Given the description of an element on the screen output the (x, y) to click on. 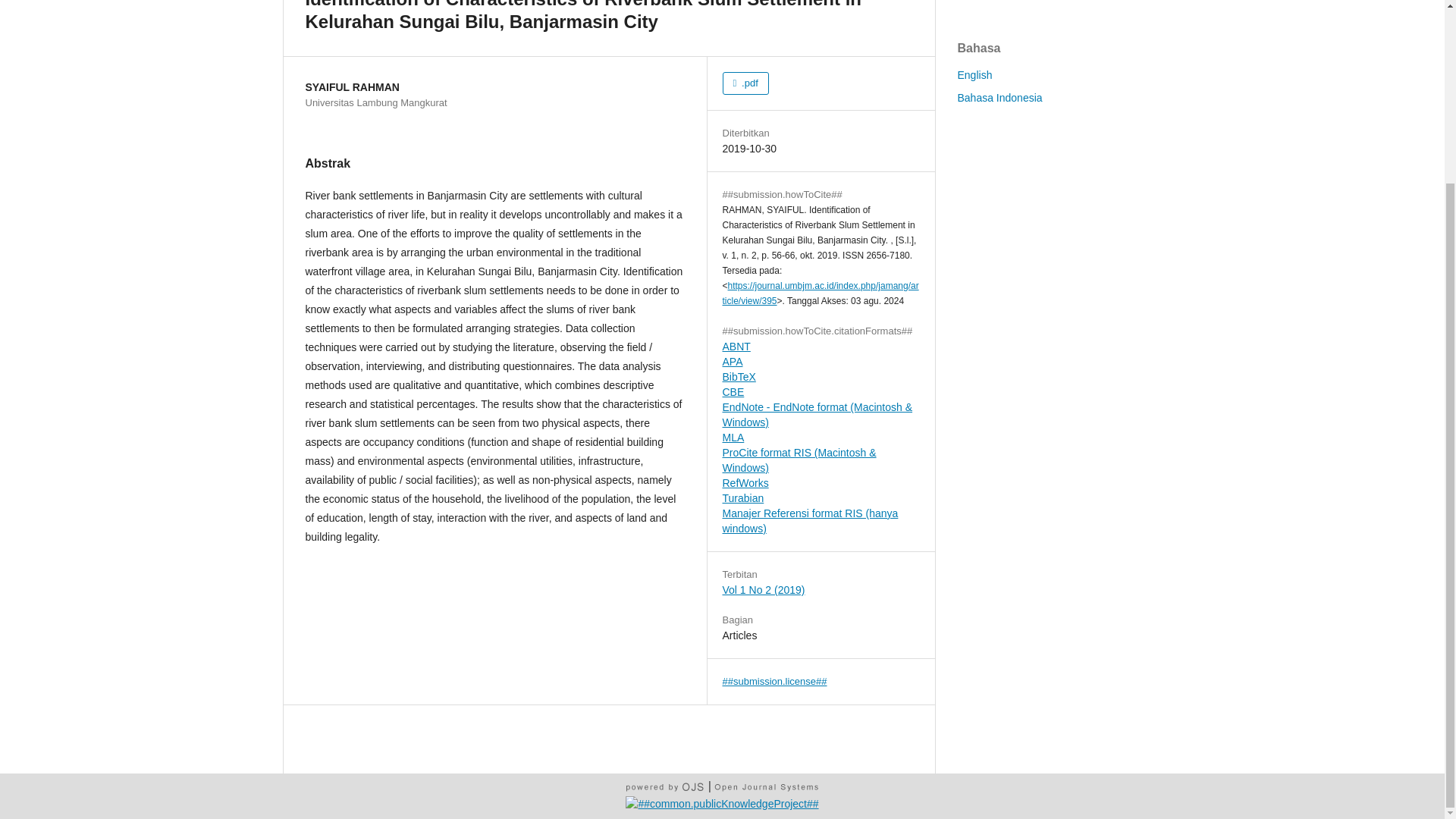
CBE (733, 391)
BibTeX (738, 377)
RefWorks (745, 482)
ABNT (735, 346)
.pdf (745, 83)
Turabian (742, 498)
MLA (733, 437)
English (973, 74)
APA (732, 361)
Bahasa Indonesia (999, 97)
